Given the description of an element on the screen output the (x, y) to click on. 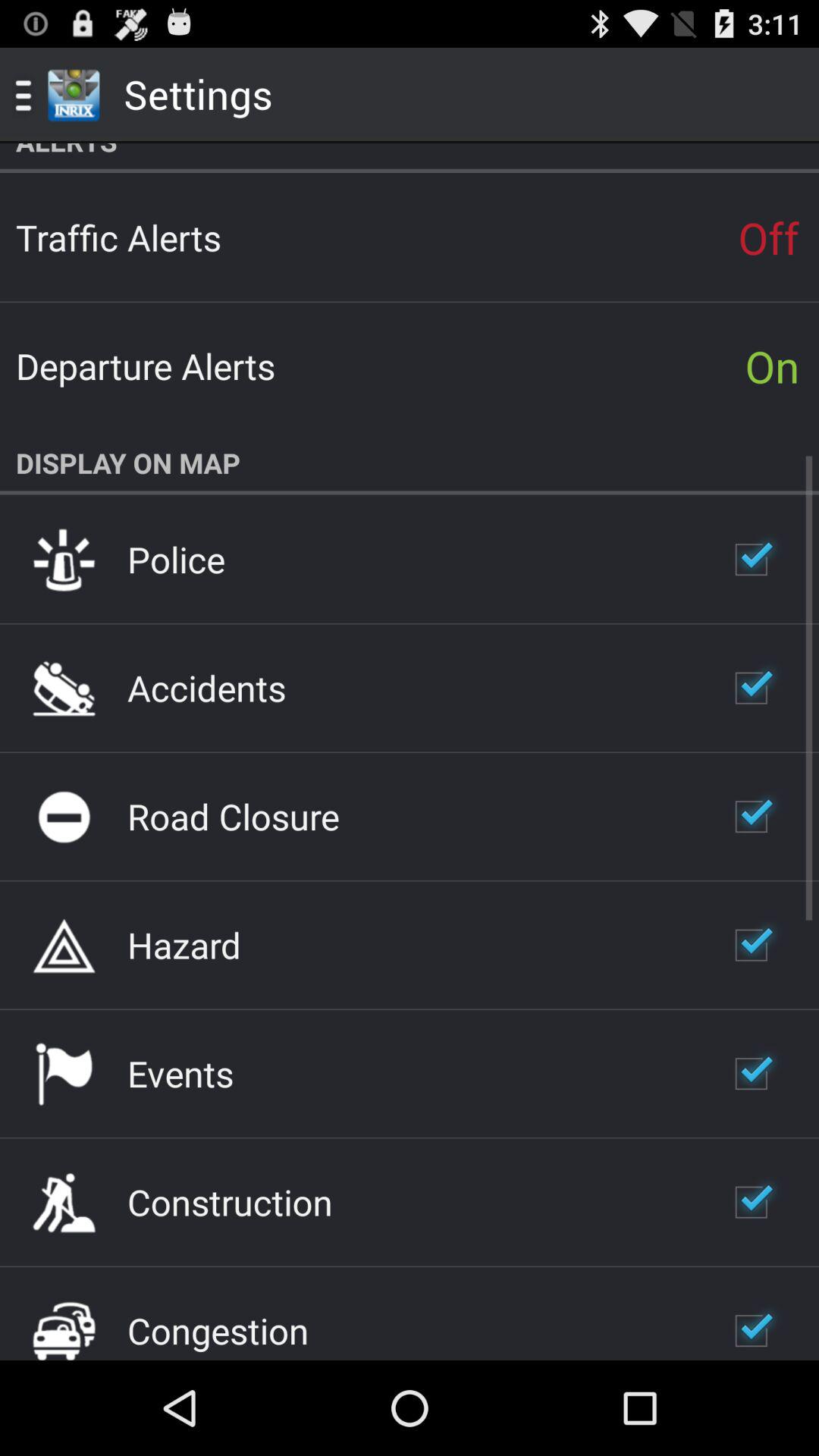
press the icon above the construction item (180, 1073)
